Given the description of an element on the screen output the (x, y) to click on. 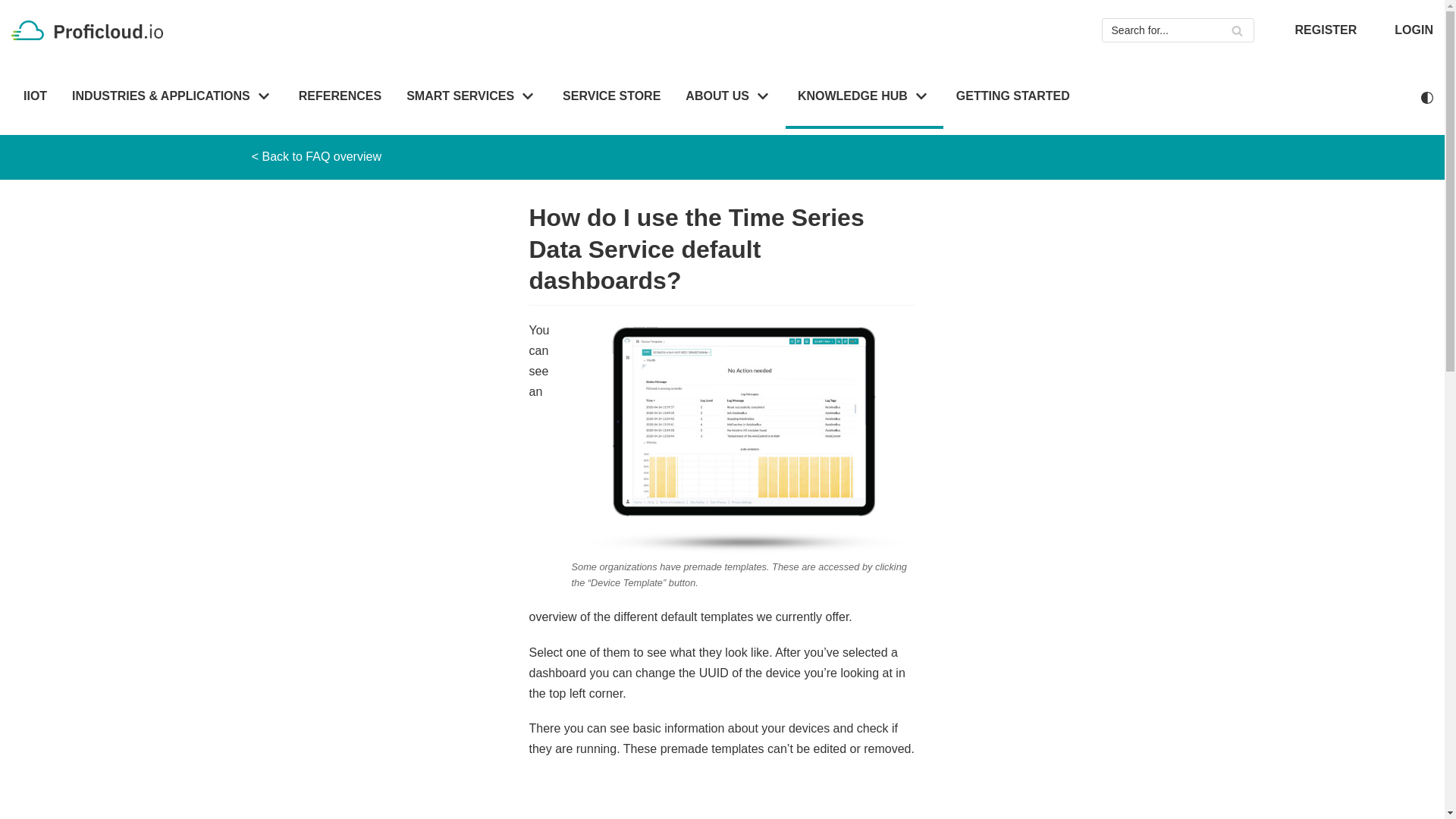
Skip to content (15, 7)
SMART SERVICES (471, 97)
ABOUT US (729, 97)
REFERENCES (339, 97)
GETTING STARTED (1013, 97)
KNOWLEDGE HUB (864, 97)
LOGIN (1413, 29)
REGISTER (1325, 29)
SERVICE STORE (611, 97)
Proficloud.io (90, 30)
